Given the description of an element on the screen output the (x, y) to click on. 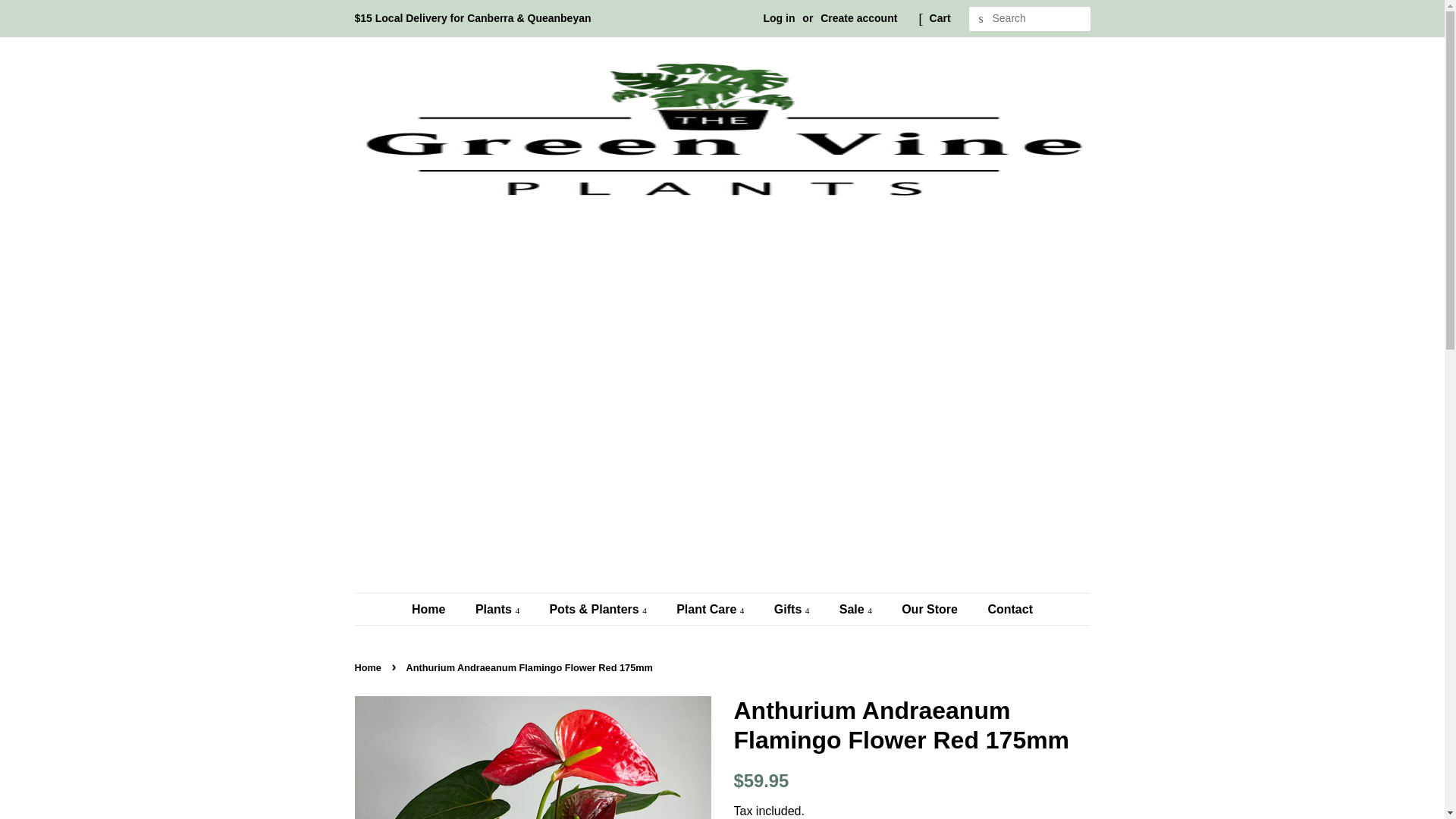
Cart (940, 18)
Create account (858, 18)
Back to the frontpage (370, 667)
Log in (778, 18)
Search (980, 18)
